Given the description of an element on the screen output the (x, y) to click on. 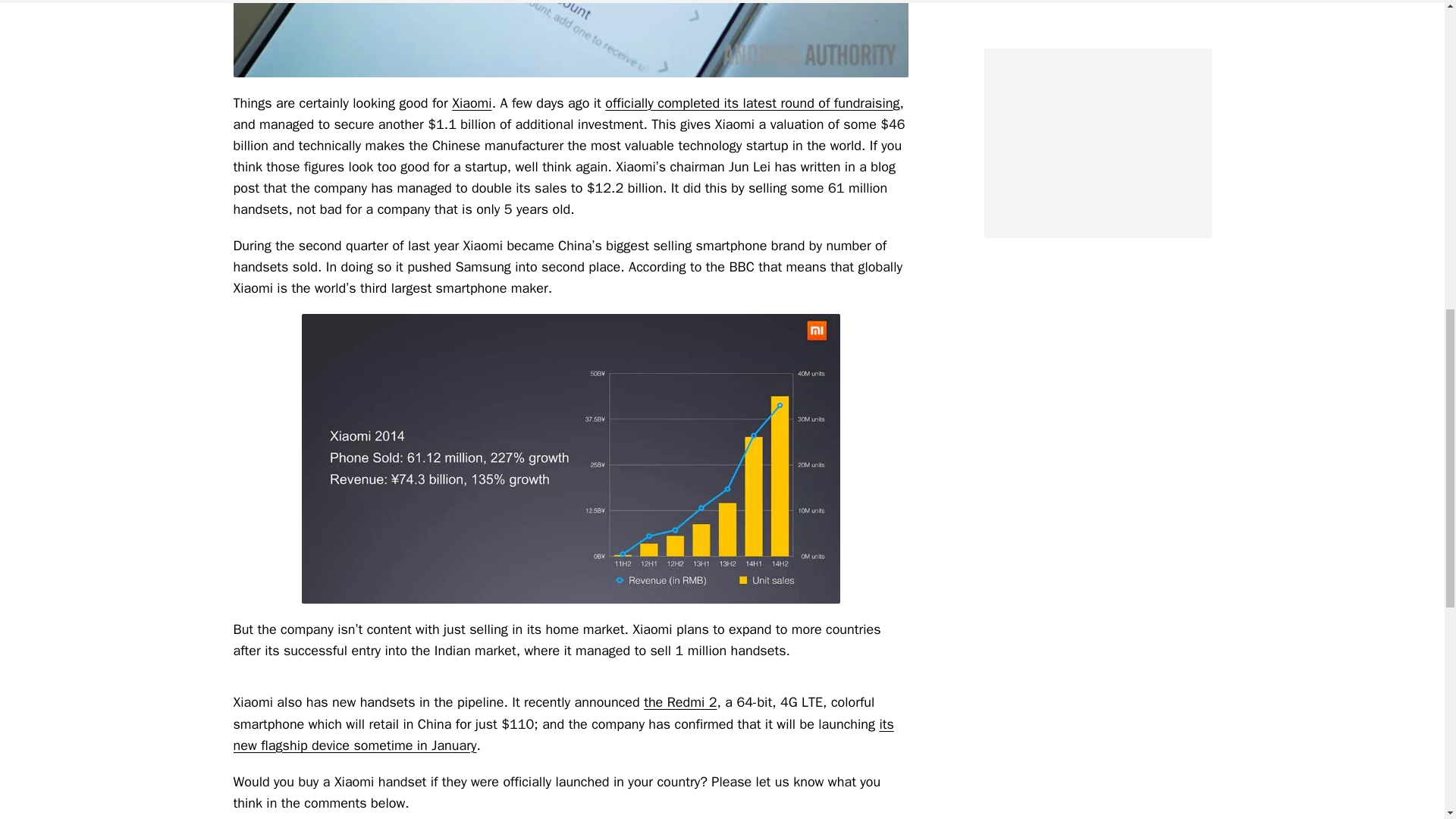
Xiaomi (471, 103)
its new flagship device sometime in January (562, 734)
the Redmi 2 (679, 701)
officially completed its latest round of fundraising (752, 103)
